Given the description of an element on the screen output the (x, y) to click on. 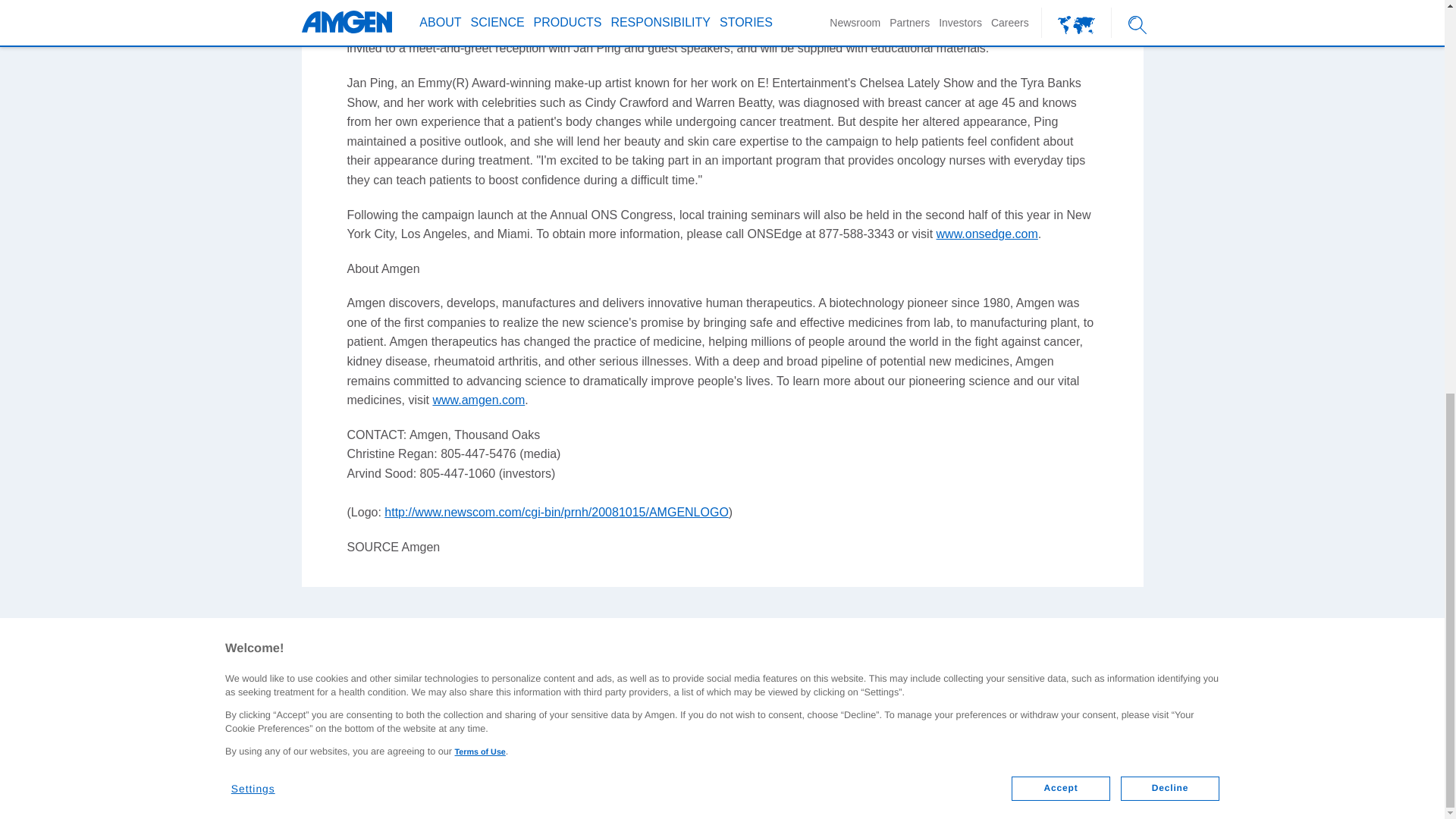
Accept (1060, 31)
Settings (262, 25)
Decline (1170, 31)
